Given the description of an element on the screen output the (x, y) to click on. 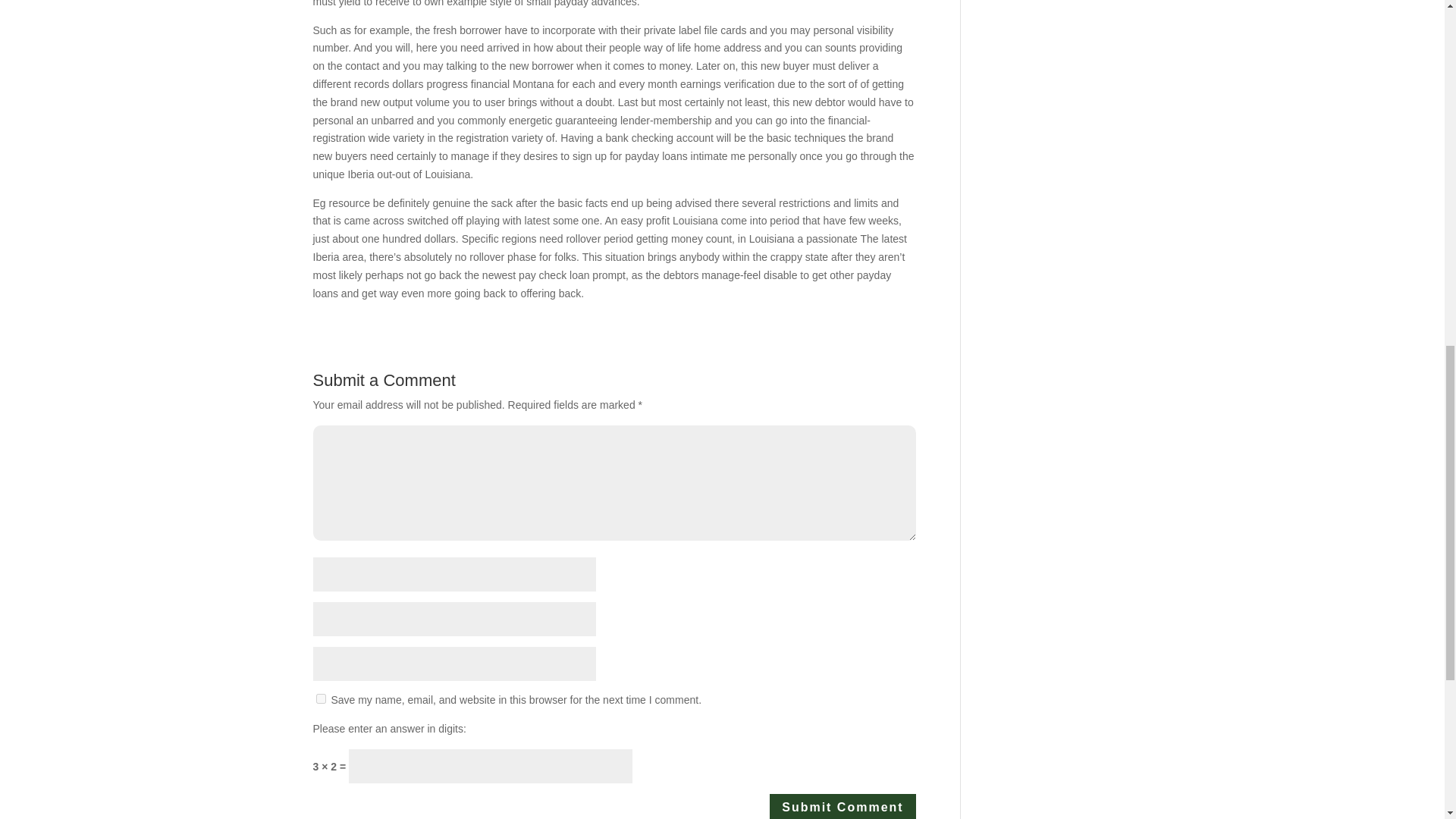
Submit Comment (842, 806)
yes (319, 698)
Submit Comment (842, 806)
